Given the description of an element on the screen output the (x, y) to click on. 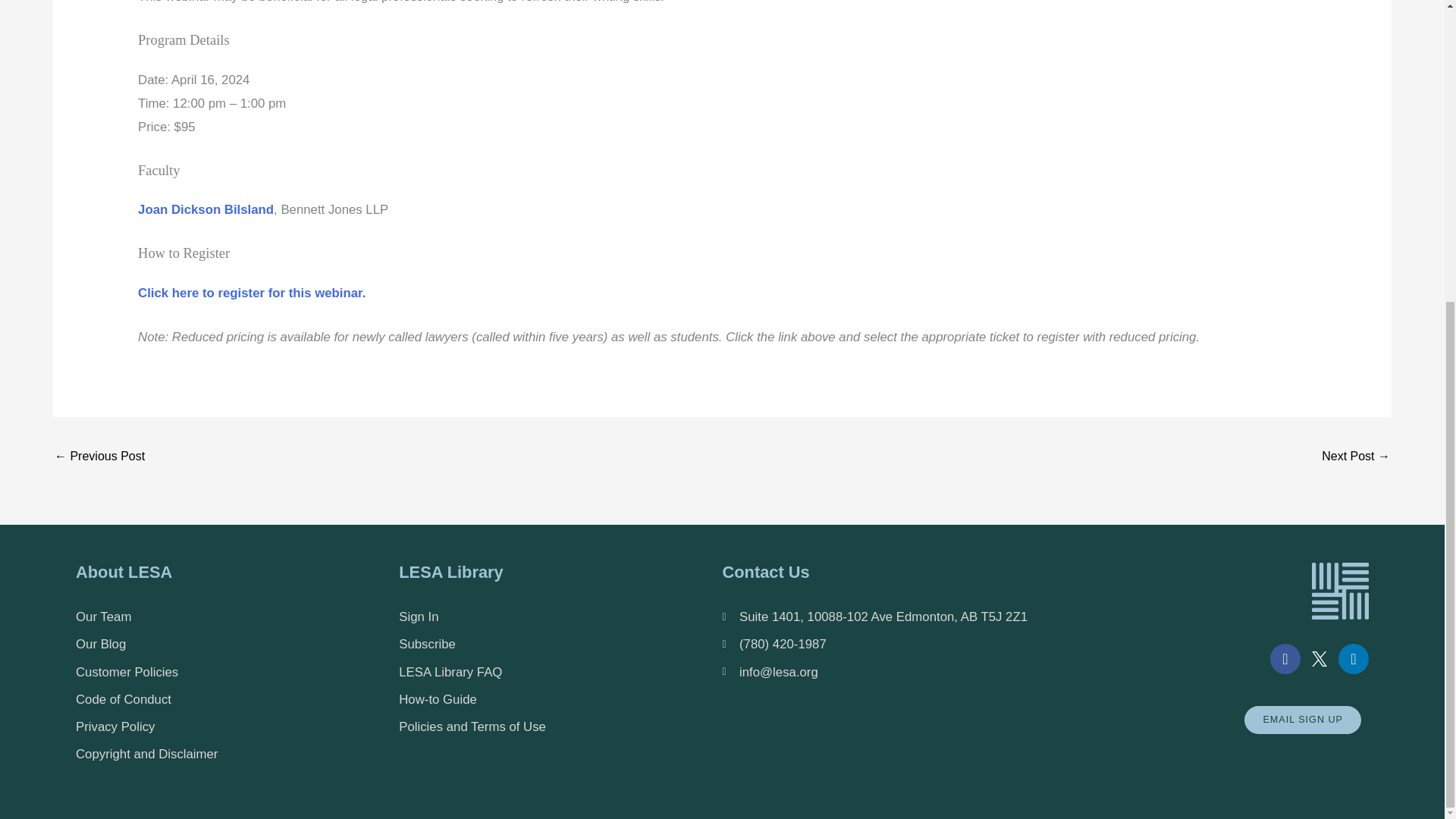
cropped-Icon-Blue.png (1339, 590)
Honouring and Remembering Phyllis A. Smith KC (1356, 457)
